Given the description of an element on the screen output the (x, y) to click on. 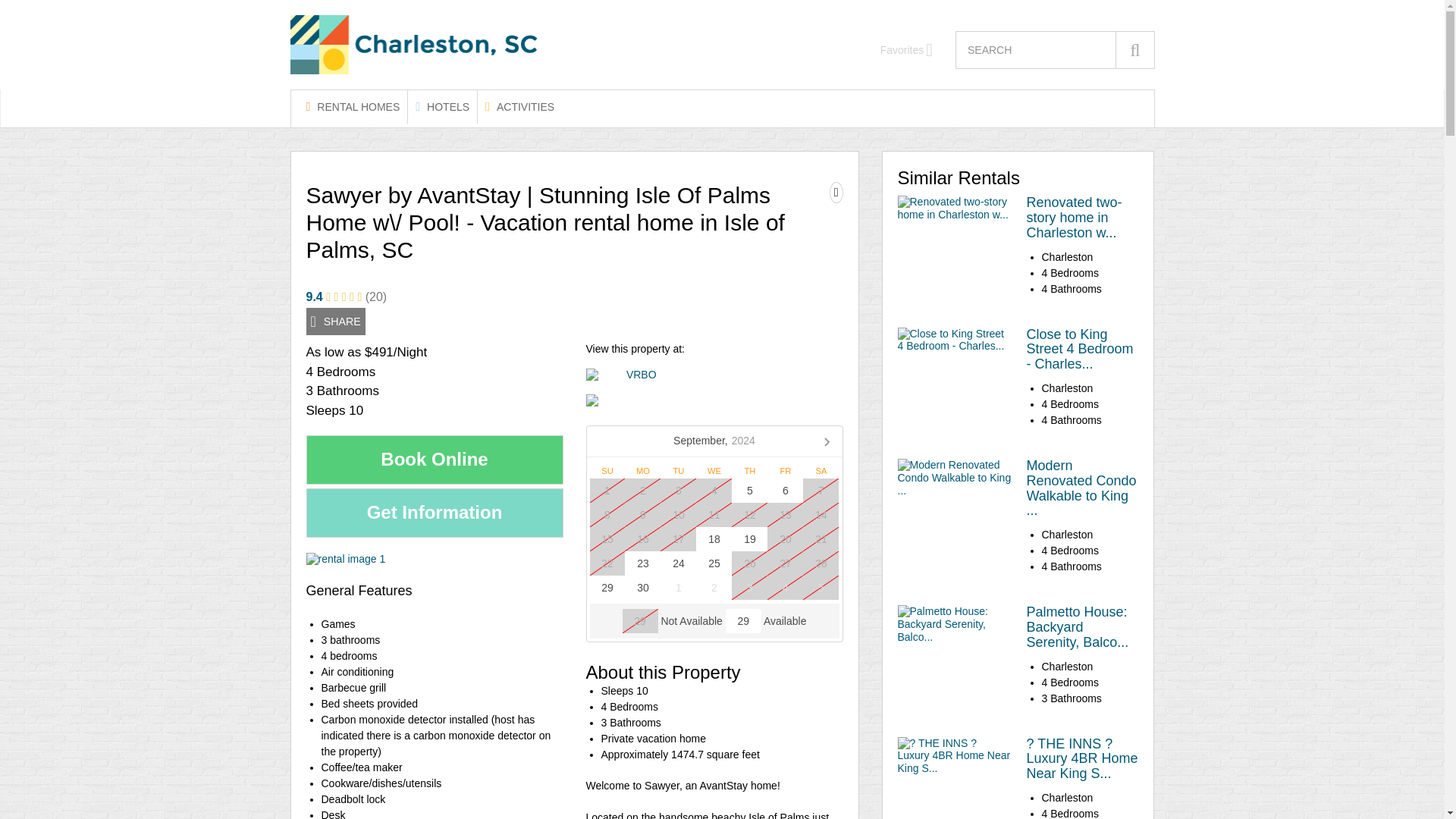
HOTELS (442, 106)
Book Online (434, 459)
Favorites (906, 49)
ACTIVITIES (519, 106)
Get Information (434, 512)
RENTAL HOMES (352, 106)
Close to King Street 4 Bedroom - Charles... (1080, 349)
Renovated two-story home in Charleston w... (1074, 217)
SHARE (335, 320)
Modern Renovated Condo Walkable to King ... (1081, 487)
